Given the description of an element on the screen output the (x, y) to click on. 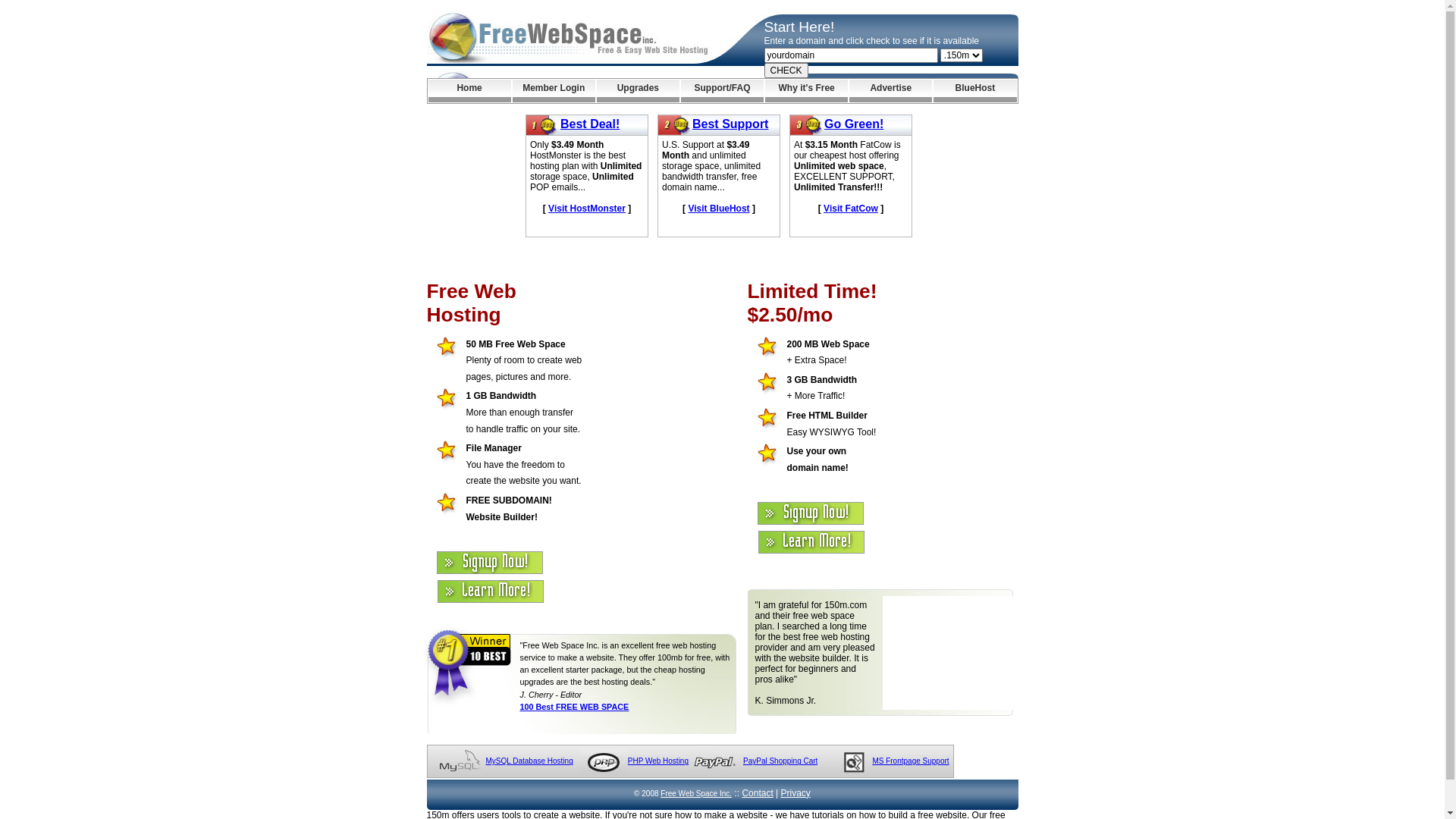
PayPal Shopping Cart Element type: text (780, 760)
Member Login Element type: text (553, 90)
CHECK Element type: text (786, 70)
Contact Element type: text (756, 792)
MS Frontpage Support Element type: text (910, 760)
PHP Web Hosting Element type: text (657, 760)
BlueHost Element type: text (974, 90)
100 Best FREE WEB SPACE Element type: text (574, 706)
Home Element type: text (468, 90)
Advertise Element type: text (890, 90)
Support/FAQ Element type: text (721, 90)
Privacy Element type: text (795, 792)
Why it's Free Element type: text (806, 90)
Upgrades Element type: text (637, 90)
Free Web Space Inc. Element type: text (695, 793)
MySQL Database Hosting Element type: text (528, 760)
